Given the description of an element on the screen output the (x, y) to click on. 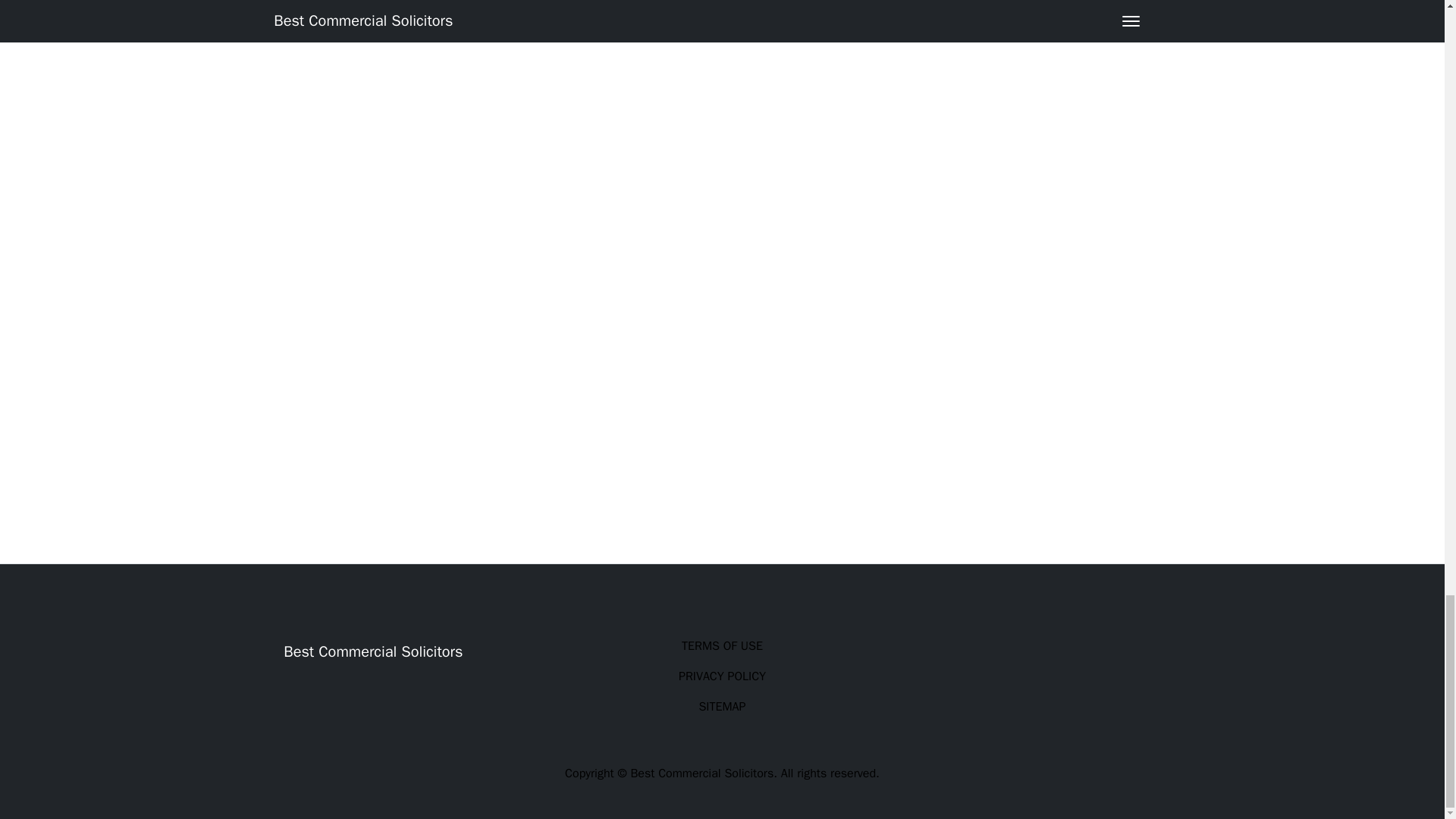
01270 215117 (331, 16)
